Given the description of an element on the screen output the (x, y) to click on. 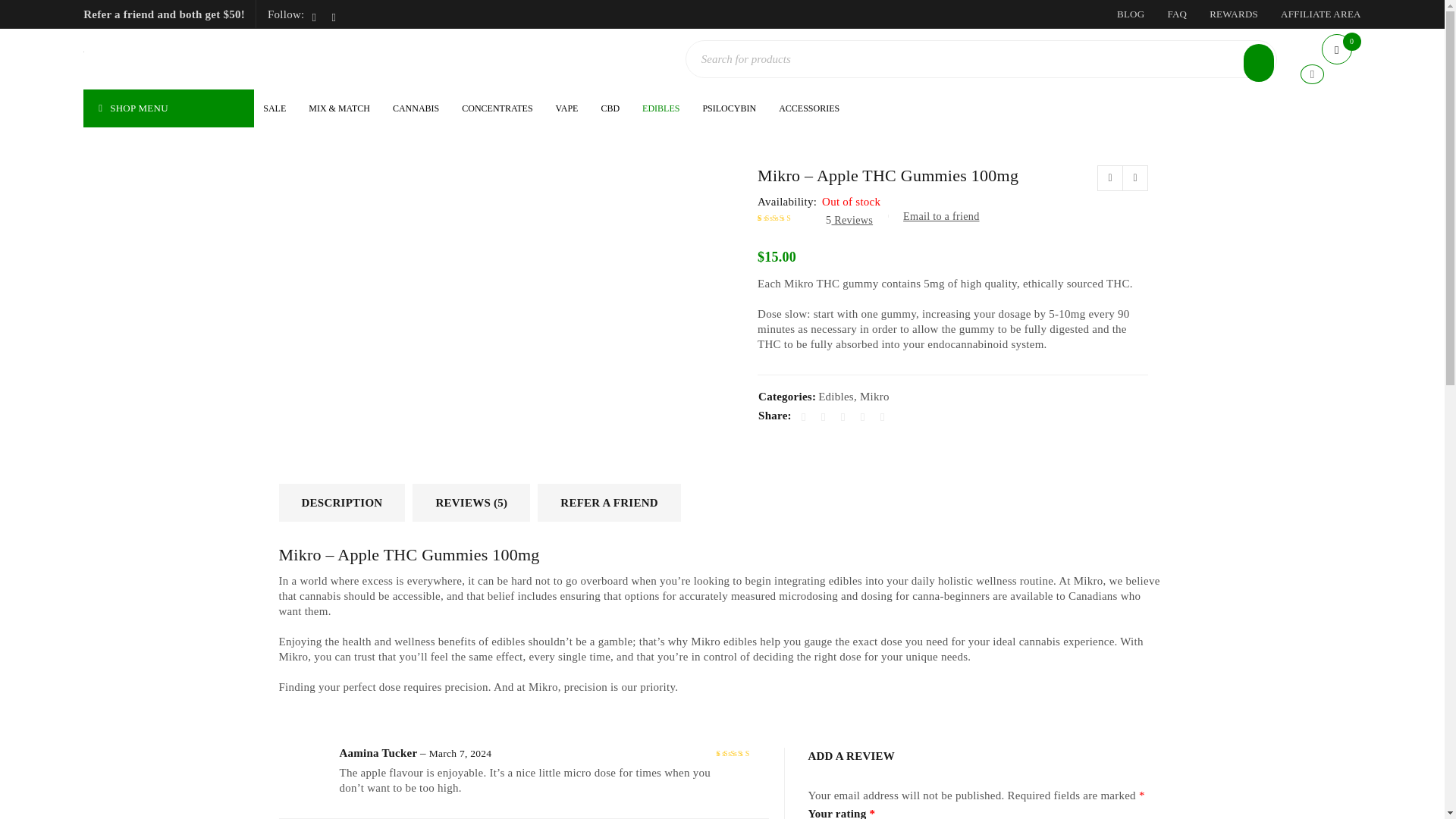
View your shopping bag (1341, 50)
Log in (371, 436)
Register (802, 600)
